Given the description of an element on the screen output the (x, y) to click on. 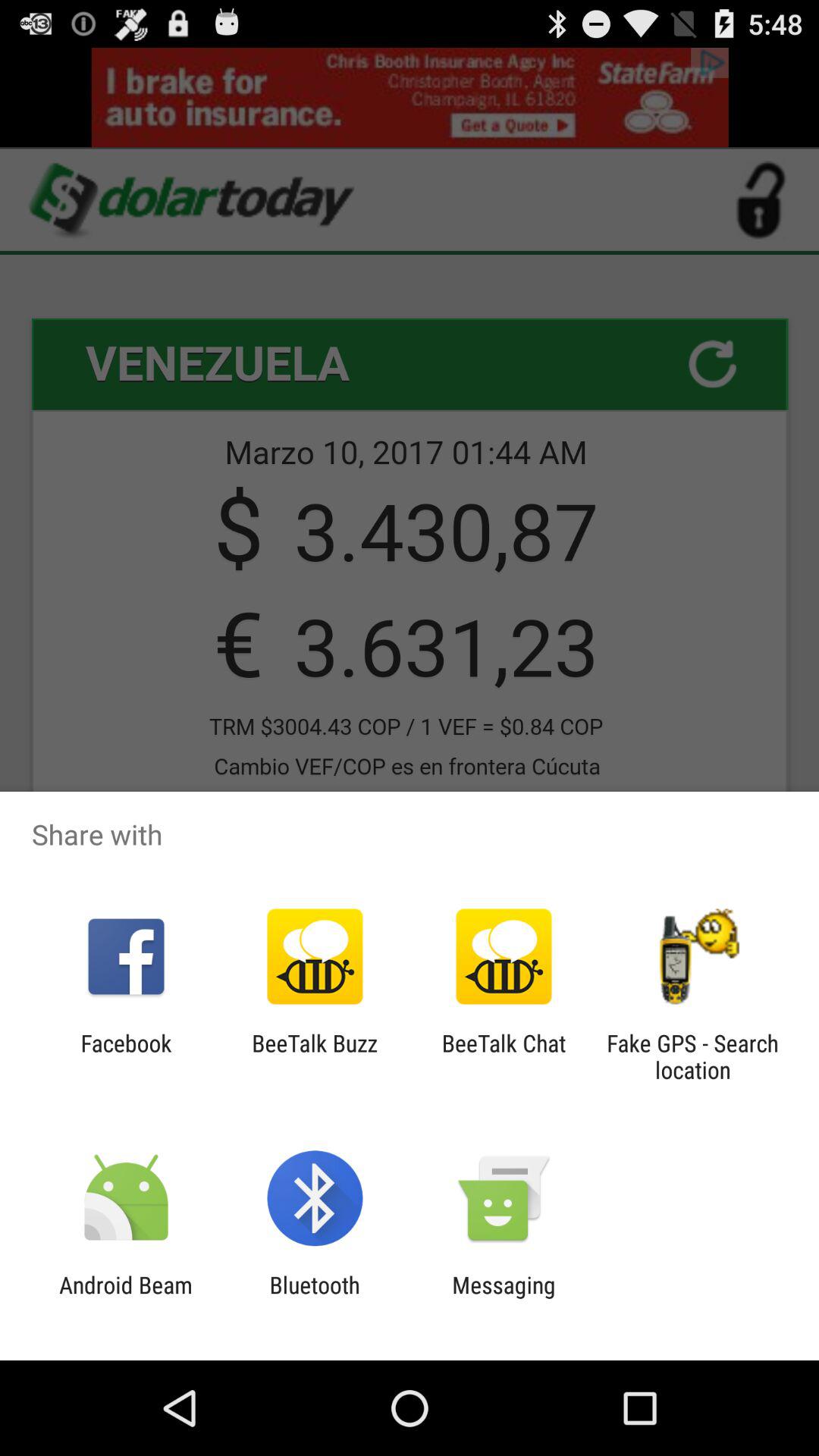
jump until the facebook app (125, 1056)
